Given the description of an element on the screen output the (x, y) to click on. 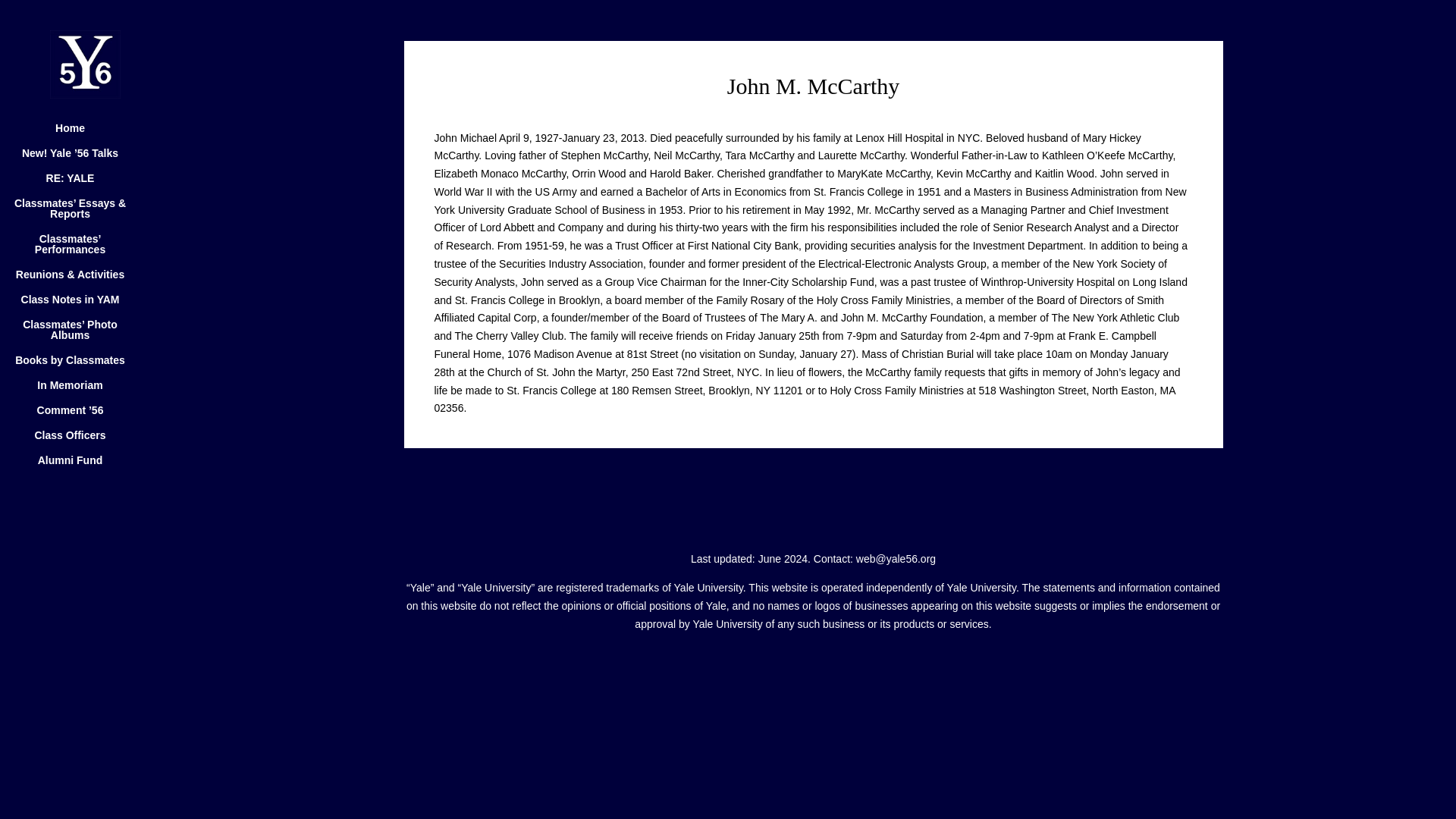
Alumni Fund (85, 467)
Class Officers (85, 442)
Class Notes in YAM (85, 306)
In Memoriam (85, 392)
RE: YALE (85, 185)
Books by Classmates (85, 367)
Home (85, 135)
